Given the description of an element on the screen output the (x, y) to click on. 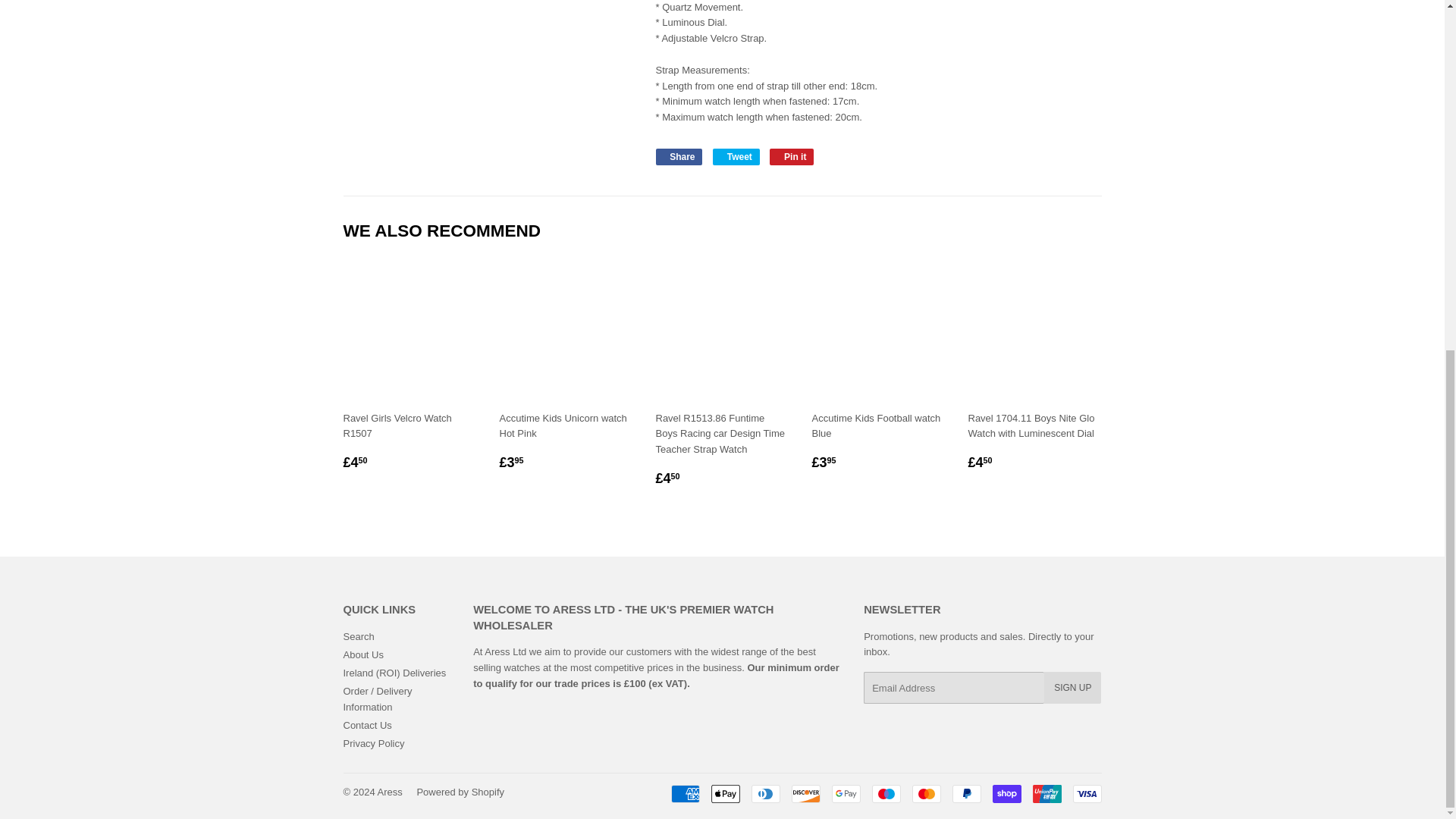
Pin on Pinterest (791, 156)
Apple Pay (725, 793)
PayPal (966, 793)
Mastercard (925, 793)
American Express (683, 793)
Maestro (886, 793)
Share on Facebook (678, 156)
Union Pay (1046, 793)
Diners Club (764, 793)
Visa (1085, 793)
